Given the description of an element on the screen output the (x, y) to click on. 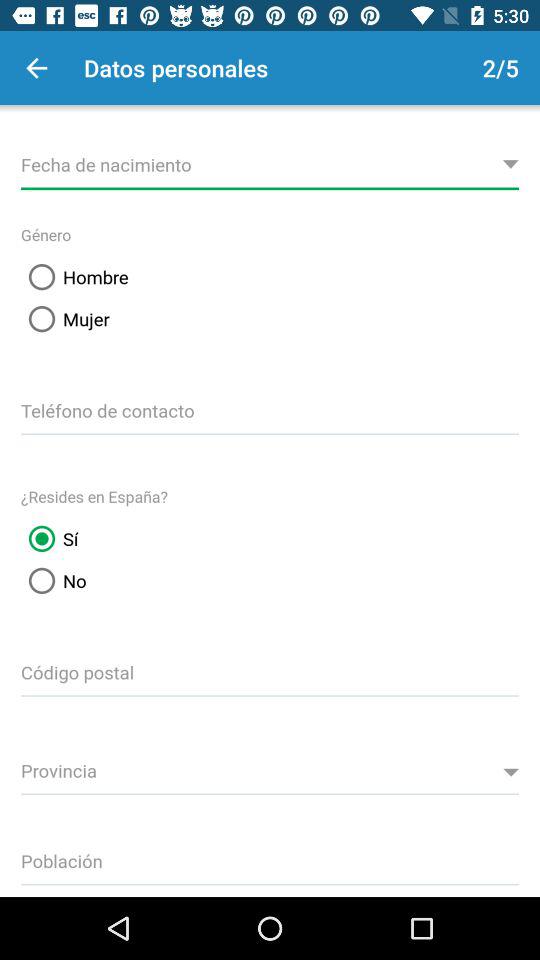
enter phone number (270, 408)
